Given the description of an element on the screen output the (x, y) to click on. 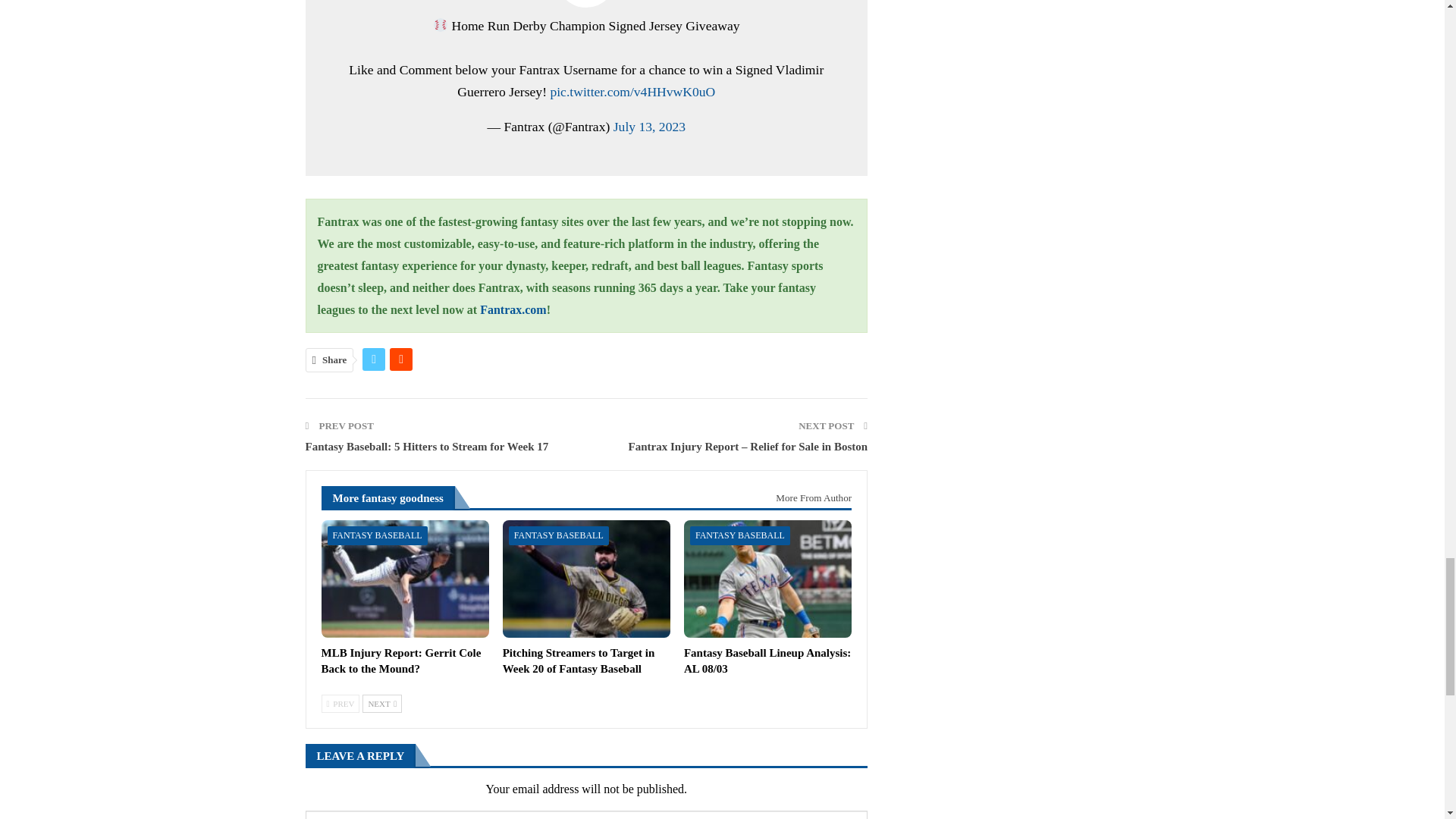
MLB Injury Report: Gerrit Cole Back to the Mound? (401, 660)
Pitching Streamers to Target in Week 20 of Fantasy Baseball (578, 660)
Pitching Streamers to Target in Week 20 of Fantasy Baseball (585, 579)
MLB Injury Report: Gerrit Cole Back to the Mound? (405, 579)
